Given the description of an element on the screen output the (x, y) to click on. 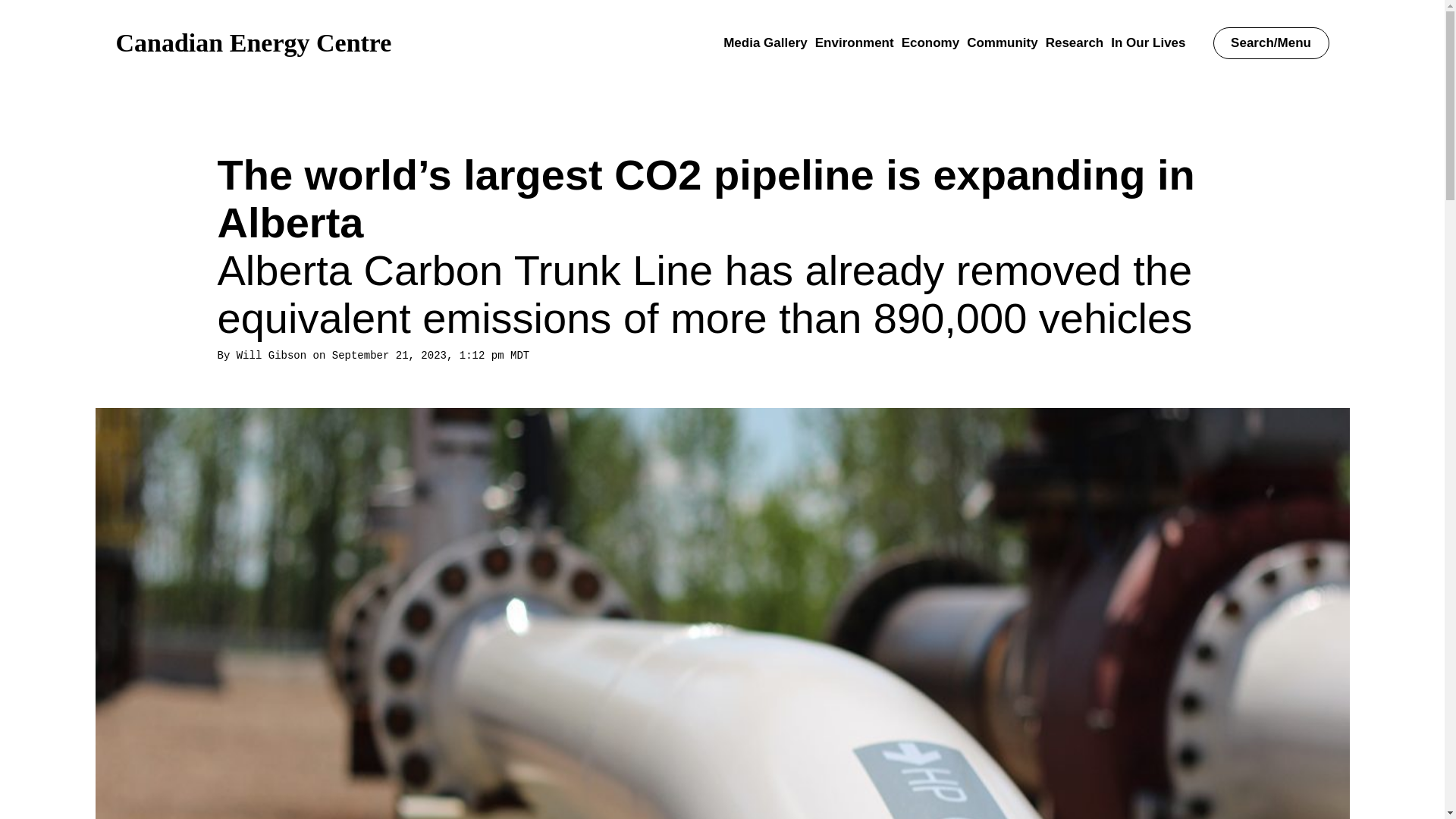
Media Gallery (765, 42)
Will Gibson (270, 355)
Environment (854, 42)
Community (1002, 42)
In Our Lives (1147, 42)
Research (1074, 42)
Economy (930, 42)
Canadian Energy Centre (253, 42)
